Given the description of an element on the screen output the (x, y) to click on. 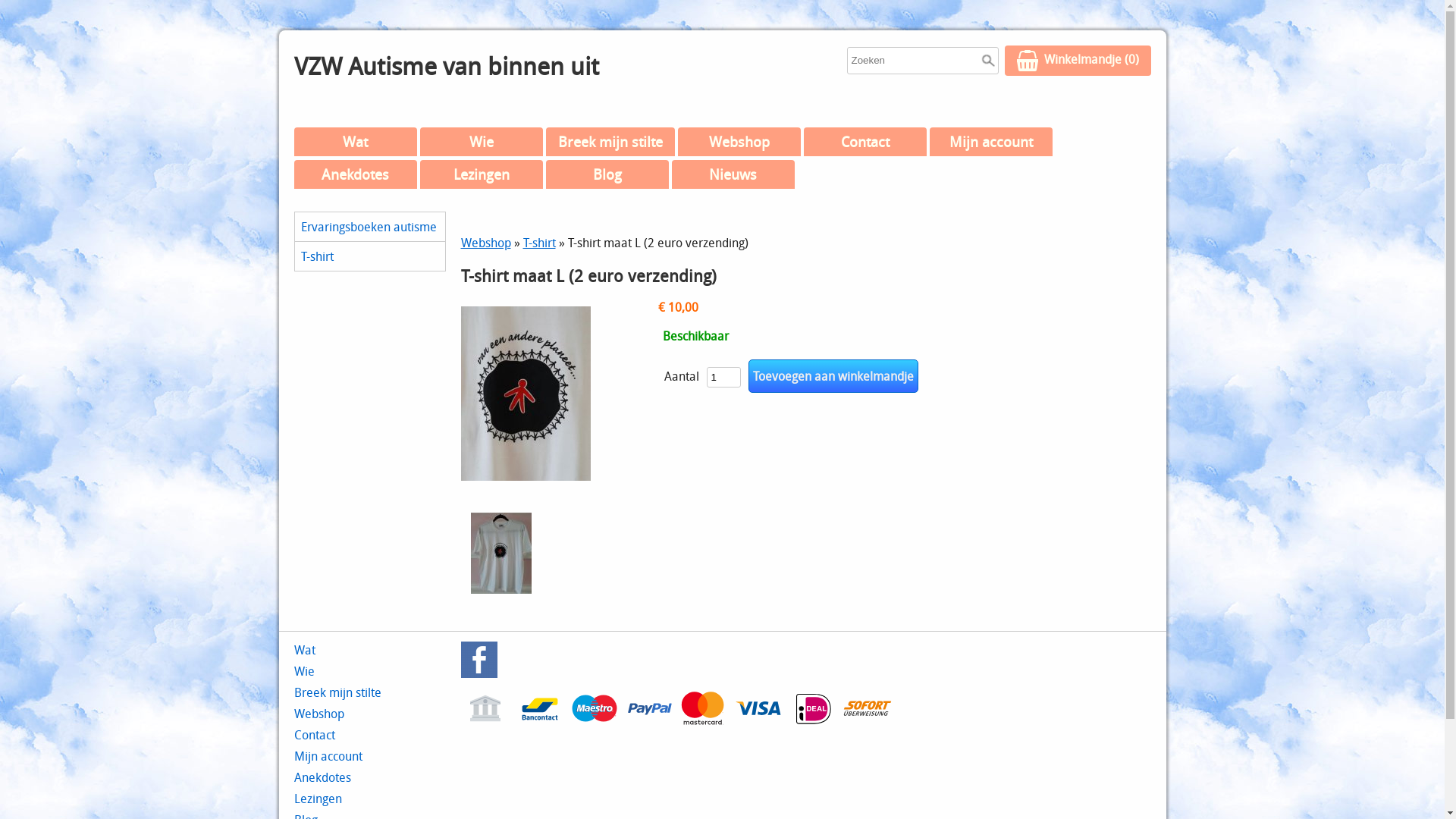
Mijn account Element type: text (990, 141)
Mijn account Element type: text (328, 755)
Lezingen Element type: text (318, 798)
Wat Element type: text (304, 649)
T-shirt Element type: text (539, 242)
Anekdotes Element type: text (355, 174)
Wie Element type: text (481, 141)
WinkelmandjeWinkelmandje (0) Element type: text (1077, 60)
Webshop Element type: text (486, 242)
Blog Element type: text (607, 174)
Toevoegen aan winkelmandje Element type: text (832, 375)
Wat Element type: text (355, 141)
Webshop Element type: text (319, 713)
Nieuws Element type: text (732, 174)
Anekdotes Element type: text (322, 776)
Contact Element type: text (864, 141)
Ervaringsboeken autisme Element type: text (369, 226)
T-shirt Element type: text (369, 255)
Breek mijn stilte Element type: text (610, 141)
Lezingen Element type: text (481, 174)
Contact Element type: text (314, 734)
Webshop Element type: text (738, 141)
Breek mijn stilte Element type: text (337, 691)
Wie Element type: text (304, 670)
